Given the description of an element on the screen output the (x, y) to click on. 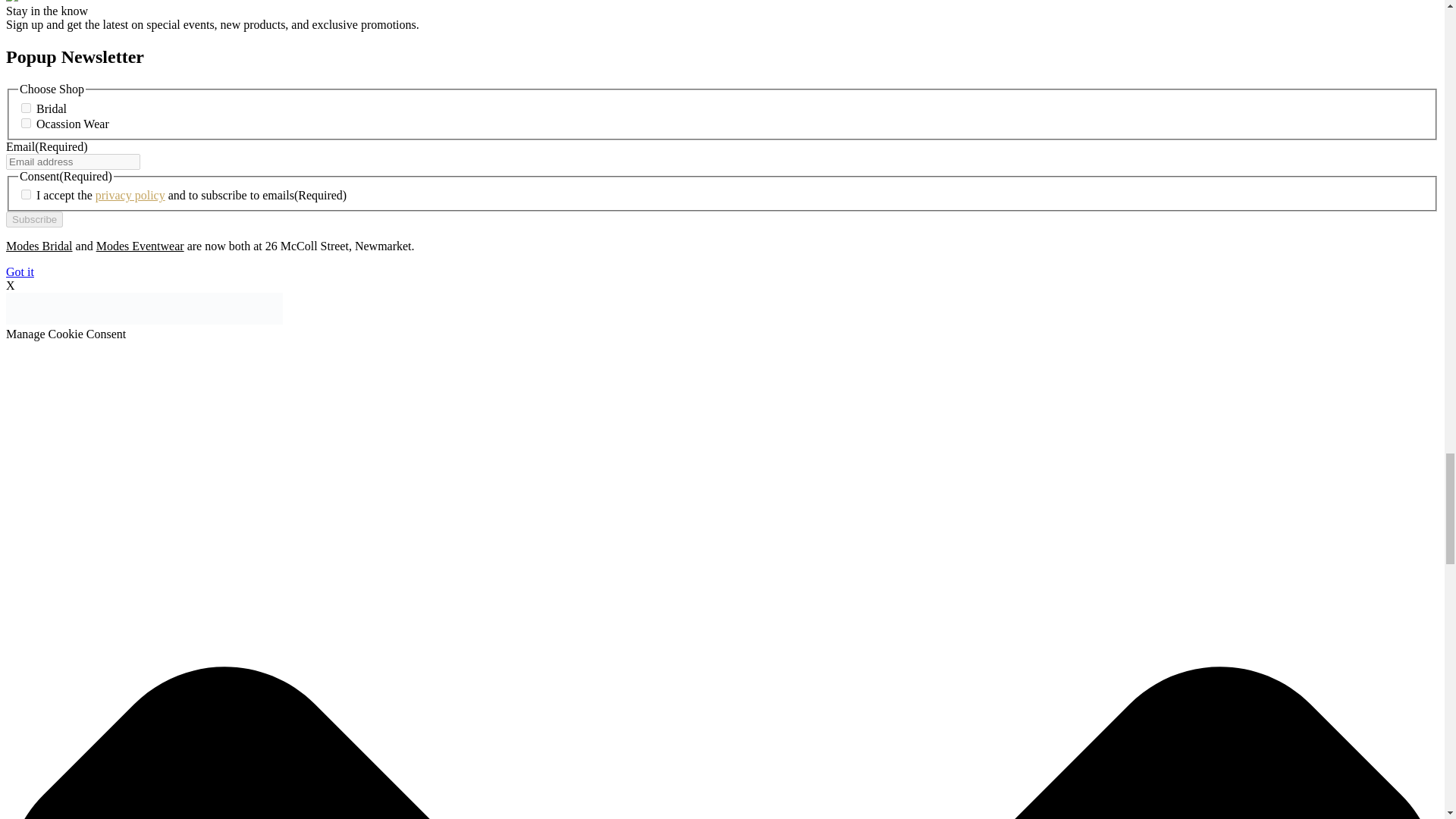
Ocassion Wear (25, 122)
Bridal (25, 108)
1 (25, 194)
Subscribe (33, 219)
